Given the description of an element on the screen output the (x, y) to click on. 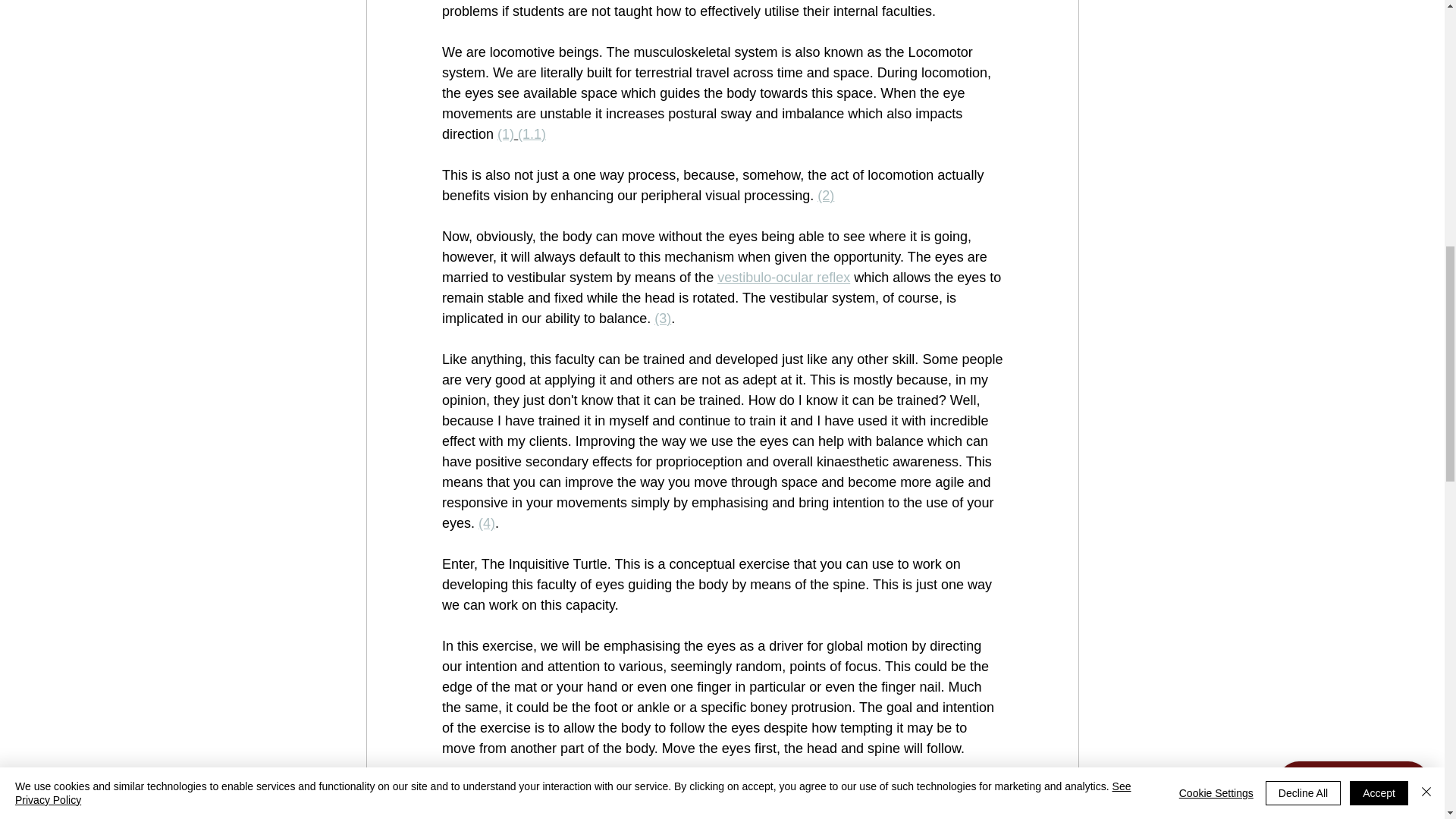
vestibulo-ocular reflex (783, 277)
